Given the description of an element on the screen output the (x, y) to click on. 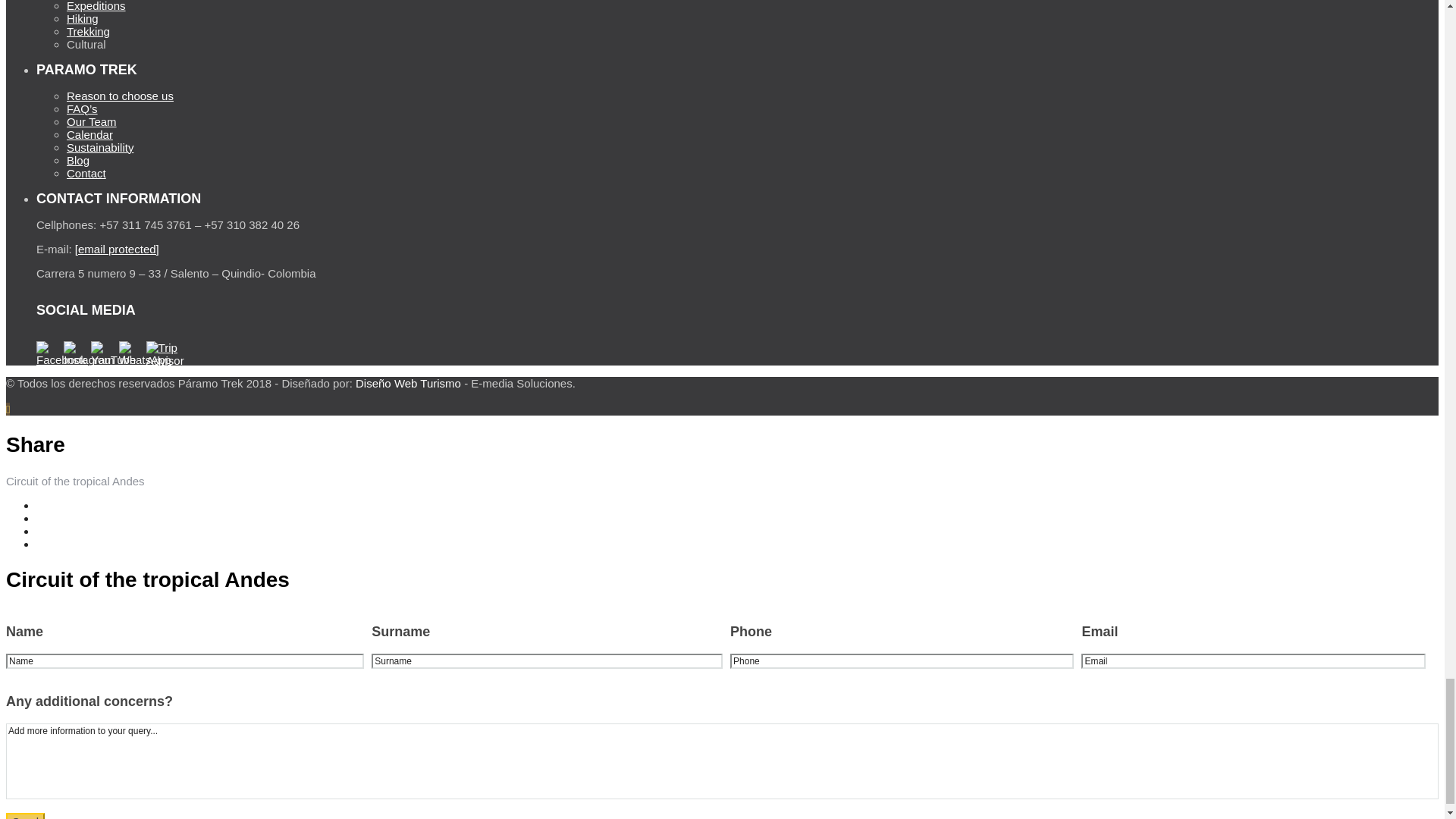
WhatsApp (130, 353)
YouTube (102, 353)
Facebook (48, 353)
Trip Advisor (158, 353)
Instagram (75, 353)
